Given the description of an element on the screen output the (x, y) to click on. 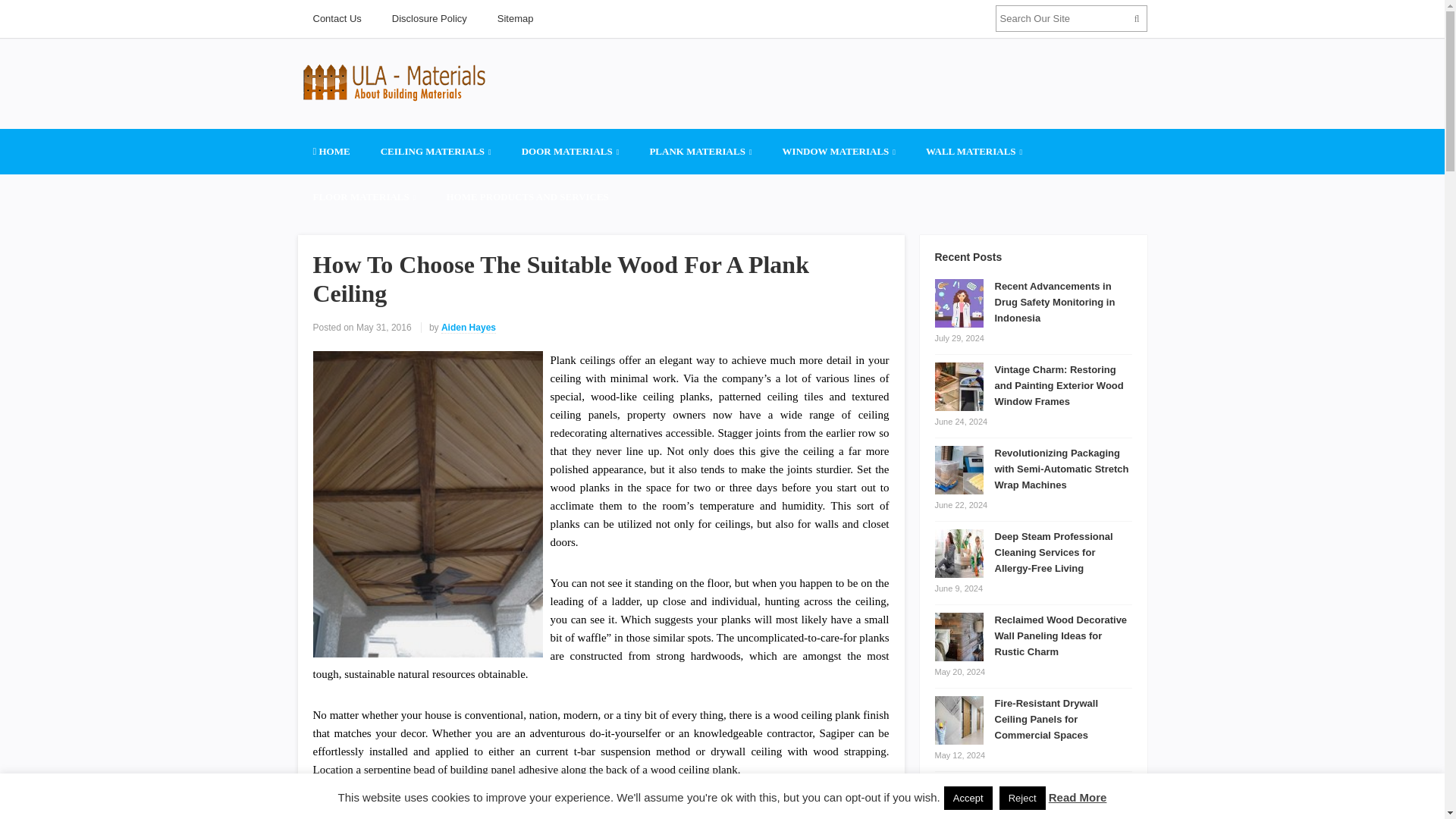
Disclosure Policy (429, 18)
Sitemap (514, 18)
Contact Us (336, 18)
